Given the description of an element on the screen output the (x, y) to click on. 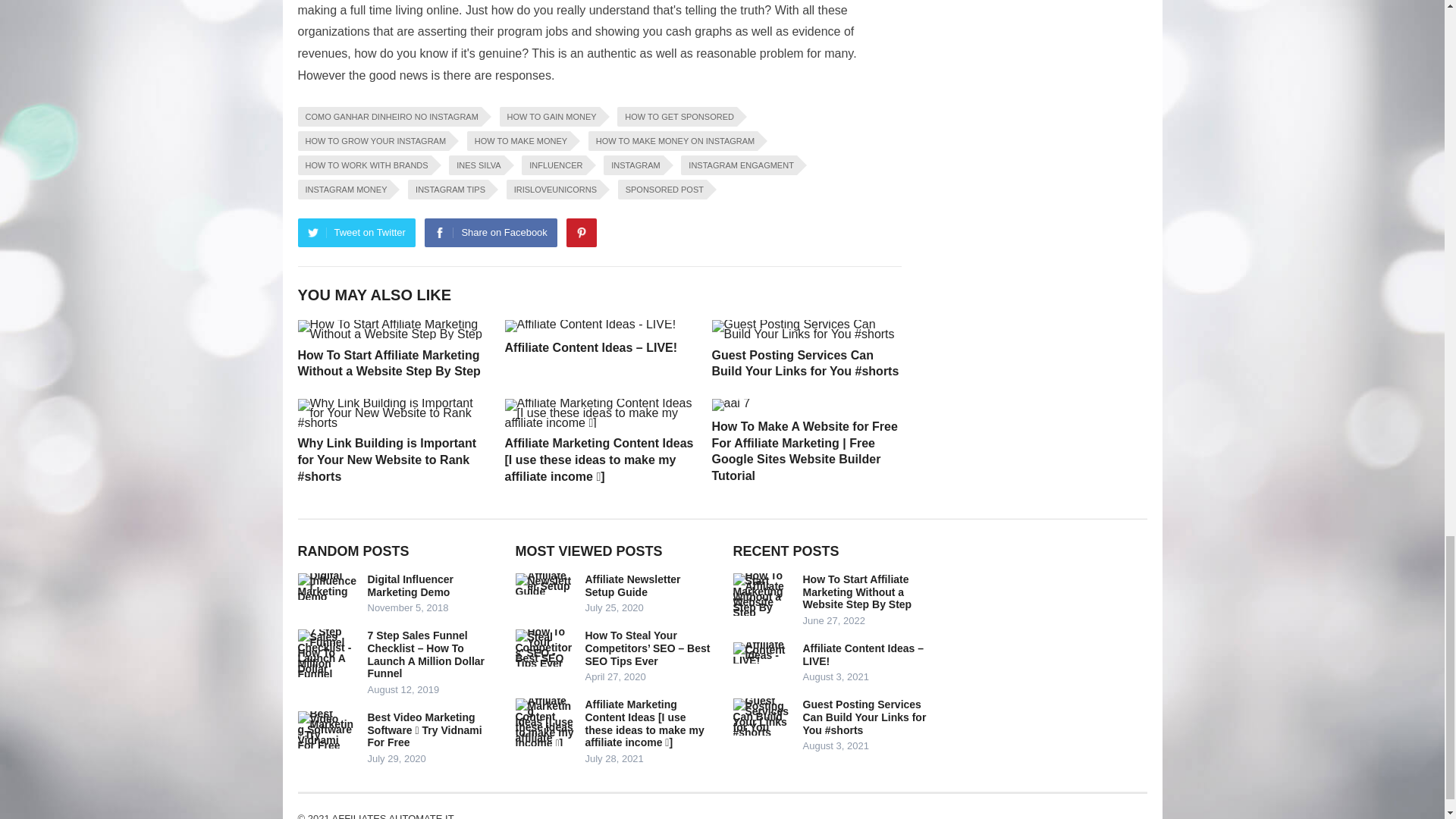
HOW TO GET SPONSORED (676, 116)
HOW TO MAKE MONEY ON INSTAGRAM (672, 140)
INES SILVA (475, 165)
HOW TO WORK WITH BRANDS (363, 165)
Affiliate Content Ideas - LIVE! 4 (591, 326)
INSTAGRAM (633, 165)
HOW TO MAKE MONEY (518, 140)
HOW TO GAIN MONEY (548, 116)
INFLUENCER (553, 165)
HOW TO GROW YOUR INSTAGRAM (372, 140)
COMO GANHAR DINHEIRO NO INSTAGRAM (388, 116)
